Given the description of an element on the screen output the (x, y) to click on. 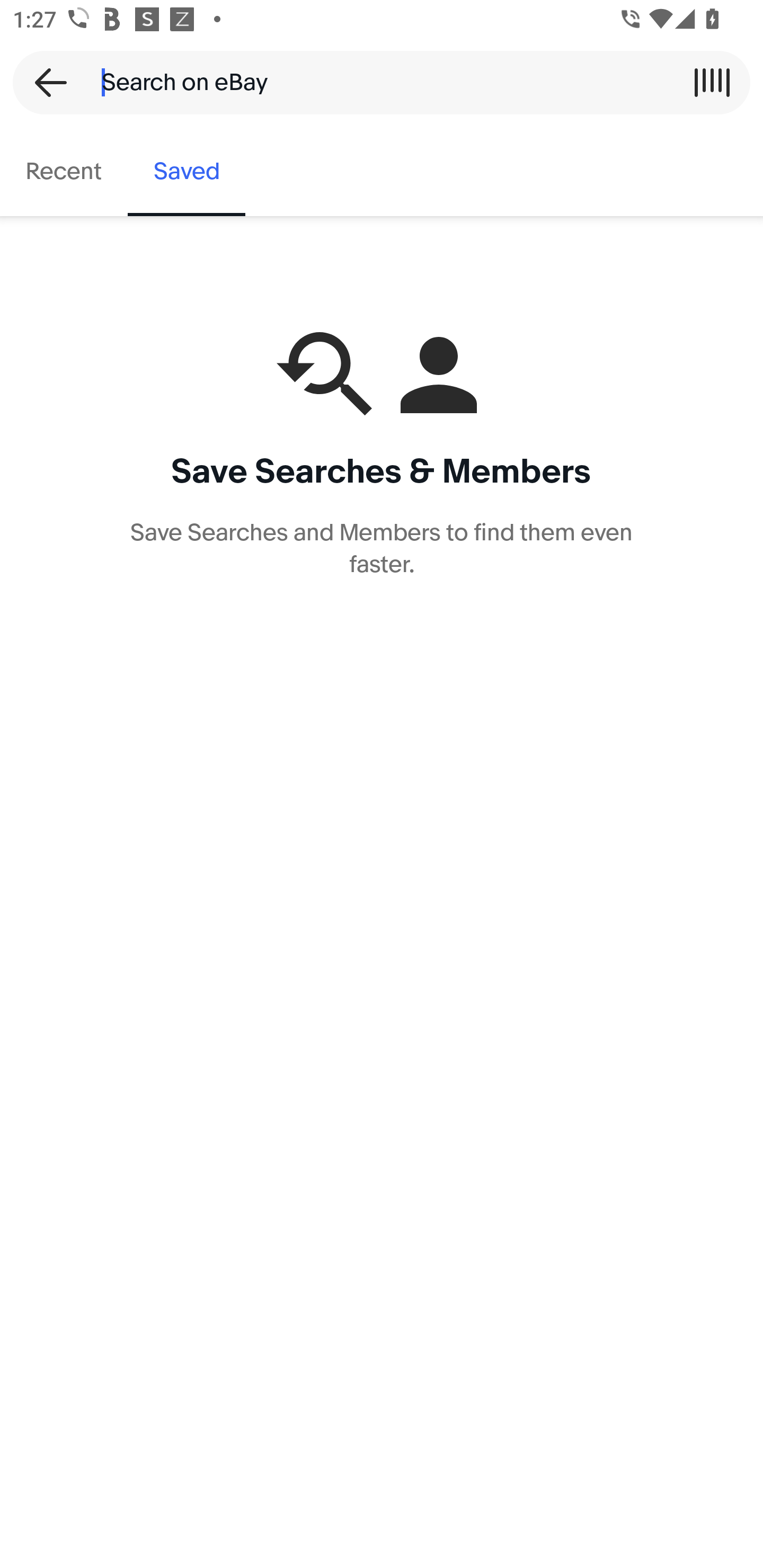
Back (44, 82)
Scan a barcode (711, 82)
Search on eBay (375, 82)
Recent, tab 1 of 2 Recent (63, 171)
